Given the description of an element on the screen output the (x, y) to click on. 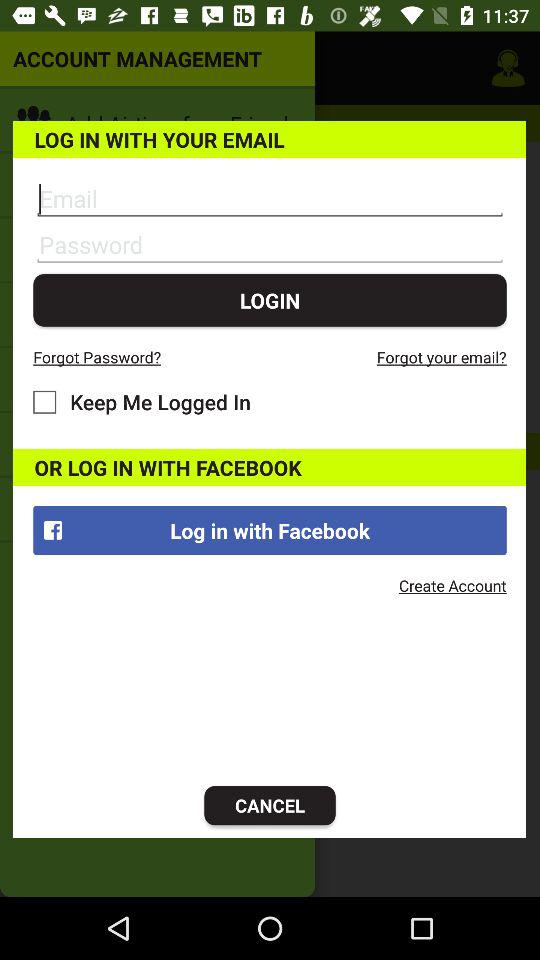
swipe until create account icon (452, 585)
